Given the description of an element on the screen output the (x, y) to click on. 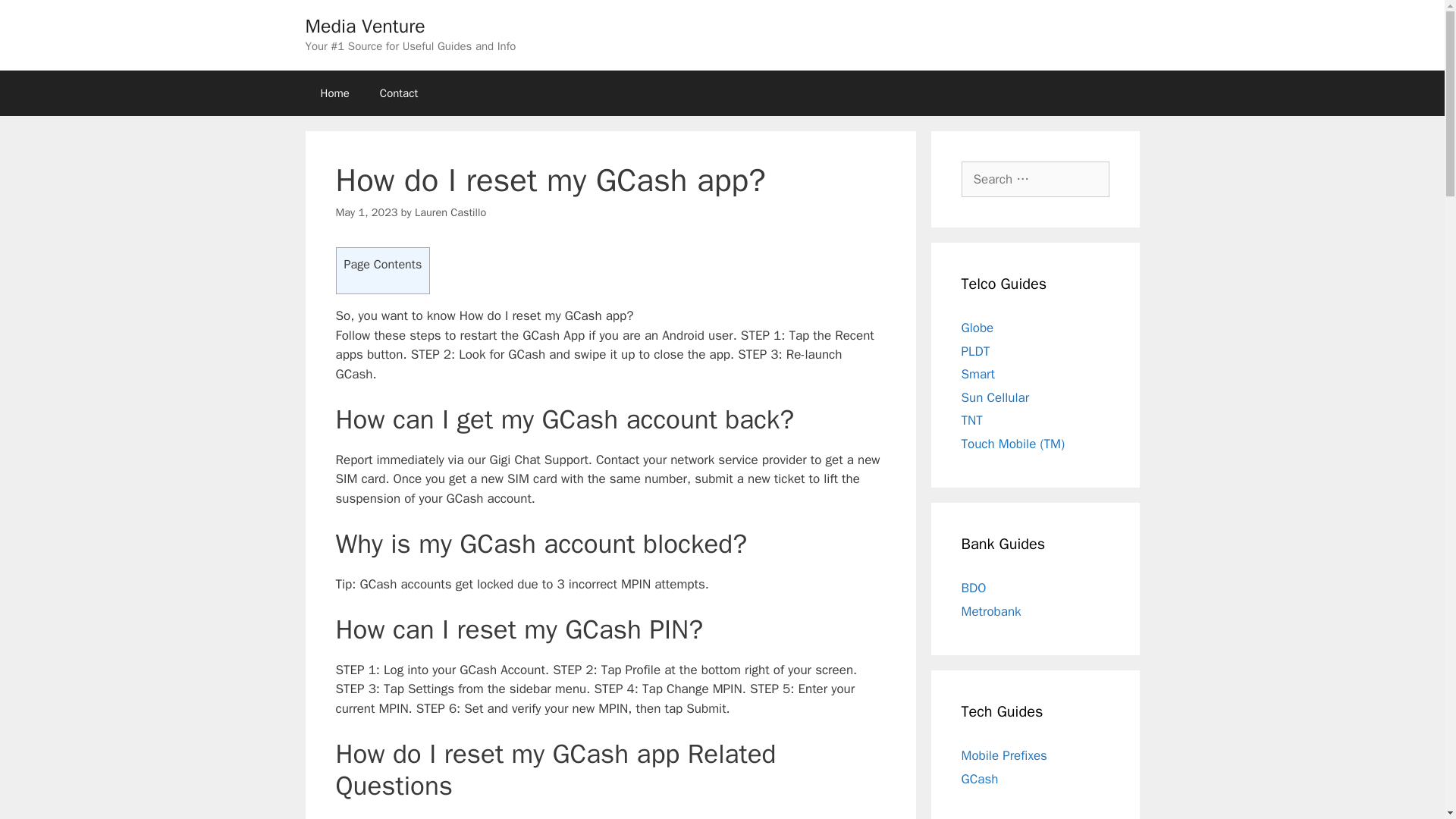
View all posts by Lauren Castillo (450, 212)
PLDT (975, 350)
Contact (398, 92)
Lauren Castillo (450, 212)
Media Venture (364, 25)
Globe (977, 327)
Metrobank (991, 611)
TNT (971, 420)
GCash (979, 778)
Search for: (1034, 178)
Search (35, 18)
Smart (977, 374)
BDO (973, 587)
Home (334, 92)
Mobile Prefixes (1003, 755)
